Given the description of an element on the screen output the (x, y) to click on. 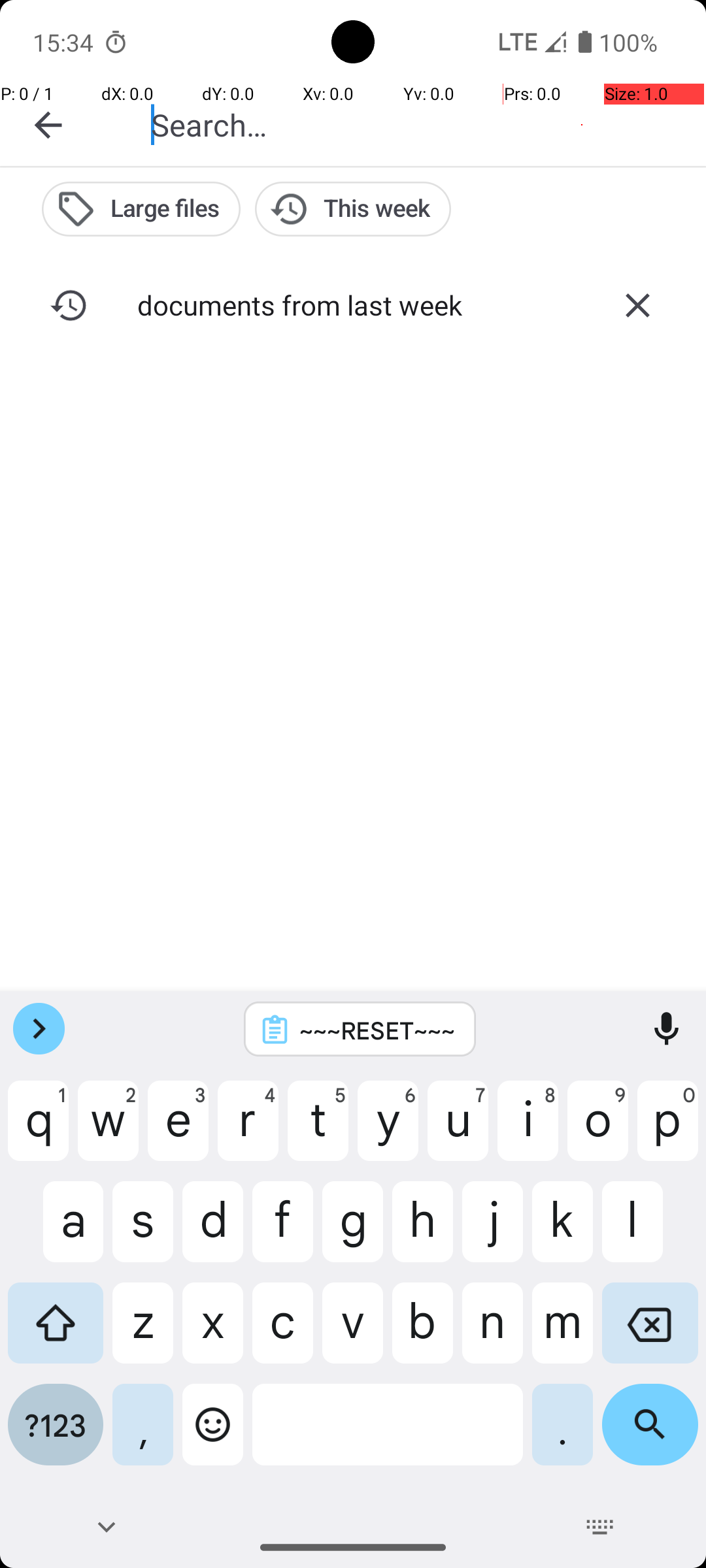
documents from last week Element type: android.widget.TextView (352, 304)
Delete search history documents from last week Element type: android.widget.ImageView (637, 304)
